Given the description of an element on the screen output the (x, y) to click on. 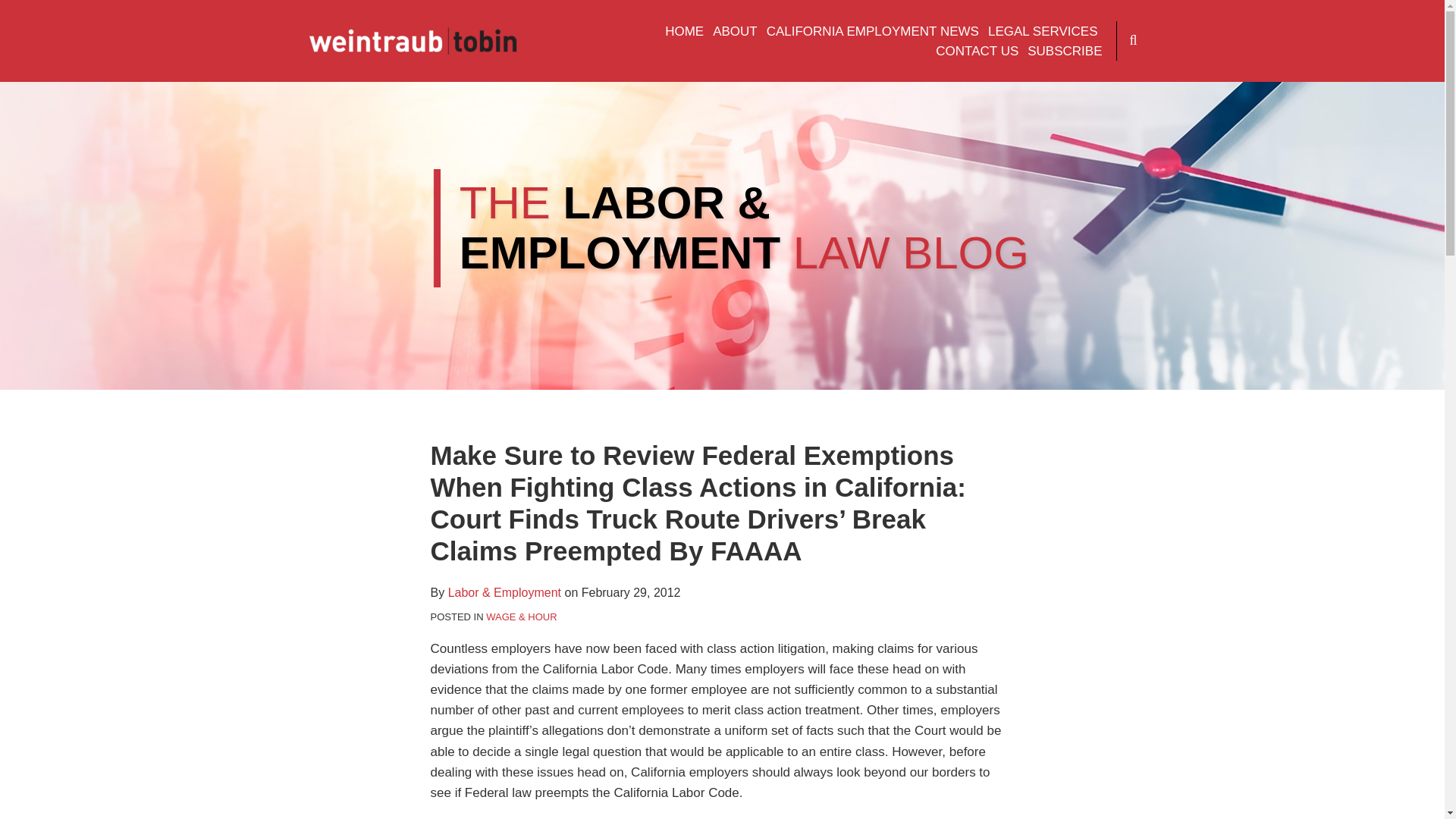
SUBSCRIBE (1064, 51)
ABOUT (735, 31)
LEGAL SERVICES (1042, 31)
CONTACT US (976, 51)
HOME (684, 31)
CALIFORNIA EMPLOYMENT NEWS (872, 31)
